Given the description of an element on the screen output the (x, y) to click on. 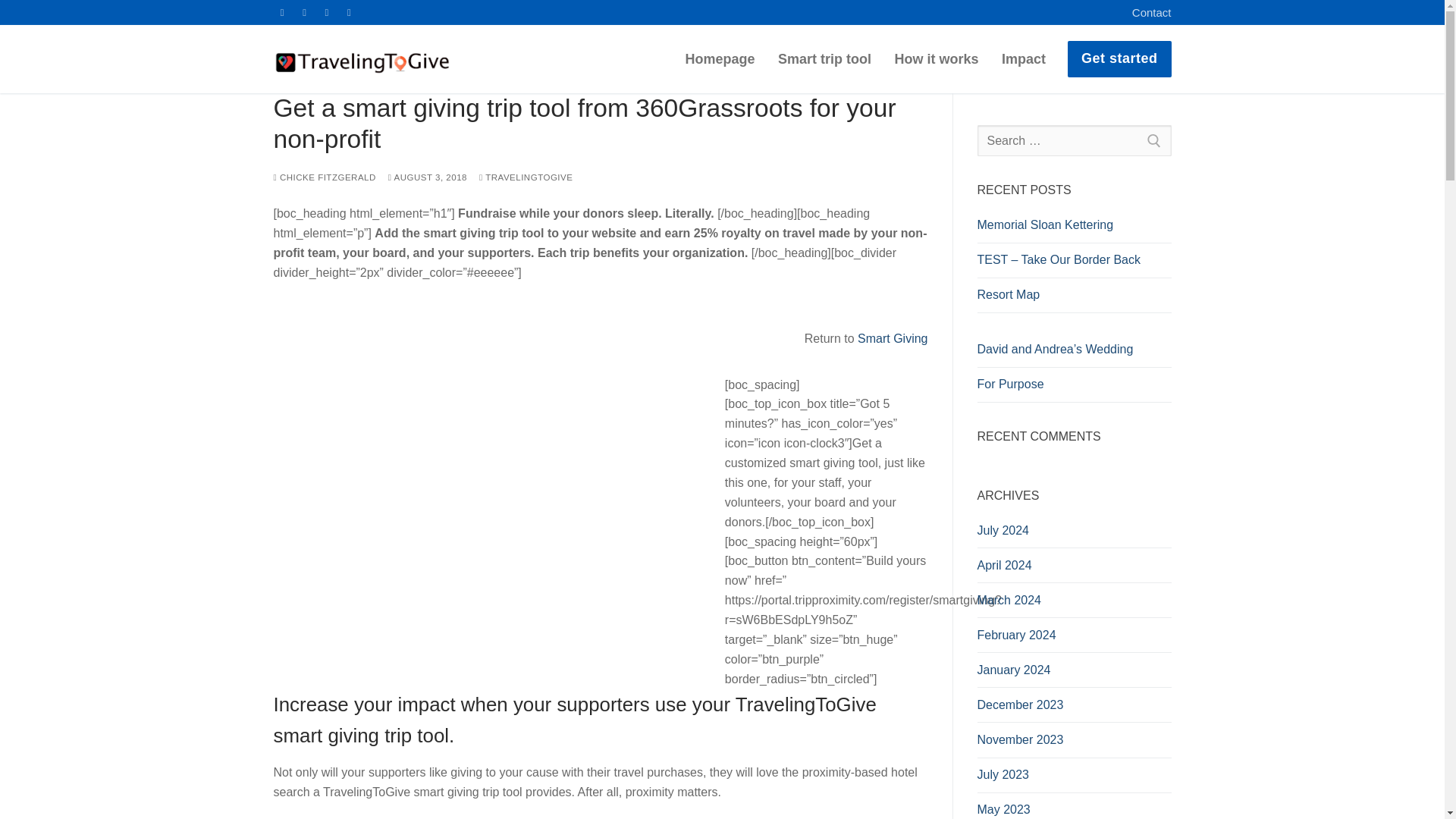
CHICKE FITZGERALD (324, 176)
February 2024 (1073, 638)
Homepage (720, 59)
Resort Map (1073, 298)
March 2024 (1073, 604)
April 2024 (1073, 569)
December 2023 (1073, 708)
TRAVELINGTOGIVE (525, 176)
Memorial Sloan Kettering (1073, 228)
Facebook (282, 12)
July 2023 (1073, 778)
July 2024 (1073, 533)
November 2023 (1073, 743)
May 2023 (1073, 809)
Search for: (1073, 141)
